Given the description of an element on the screen output the (x, y) to click on. 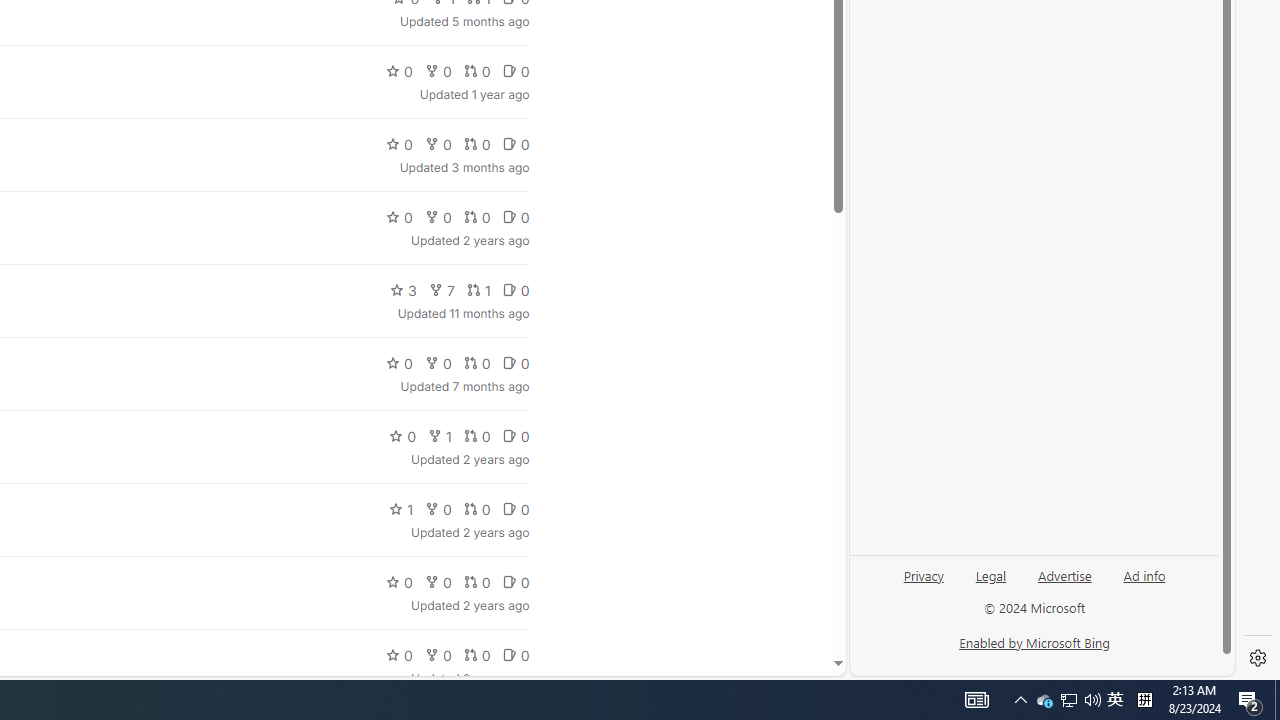
Legal (990, 583)
3 (403, 289)
0 (515, 654)
Privacy (923, 574)
Advertise (1064, 583)
Ad info (1144, 583)
Class: s14 gl-mr-2 (509, 655)
1 (401, 508)
Privacy (923, 583)
Ad info (1144, 574)
7 (441, 289)
Legal (991, 574)
Advertise (1064, 574)
